Given the description of an element on the screen output the (x, y) to click on. 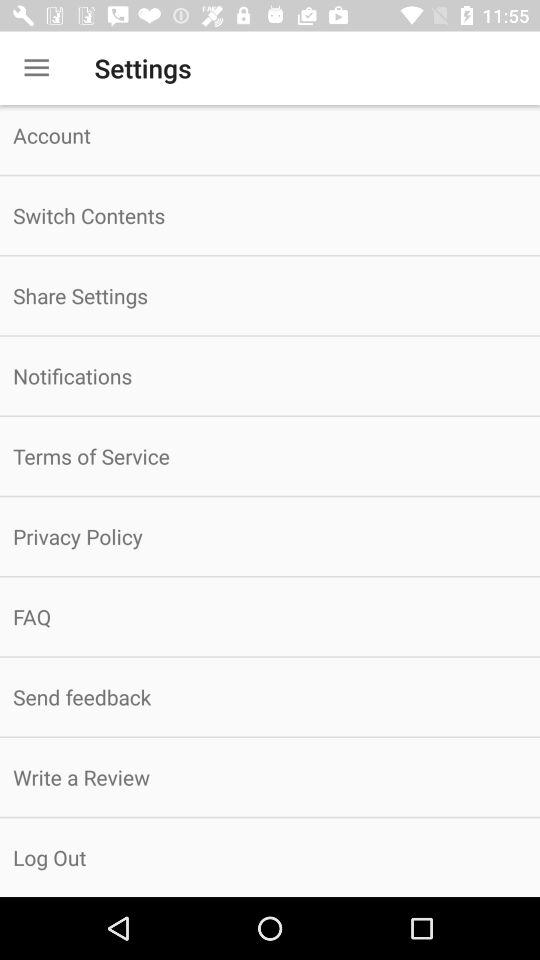
turn off the item above the faq item (270, 536)
